Given the description of an element on the screen output the (x, y) to click on. 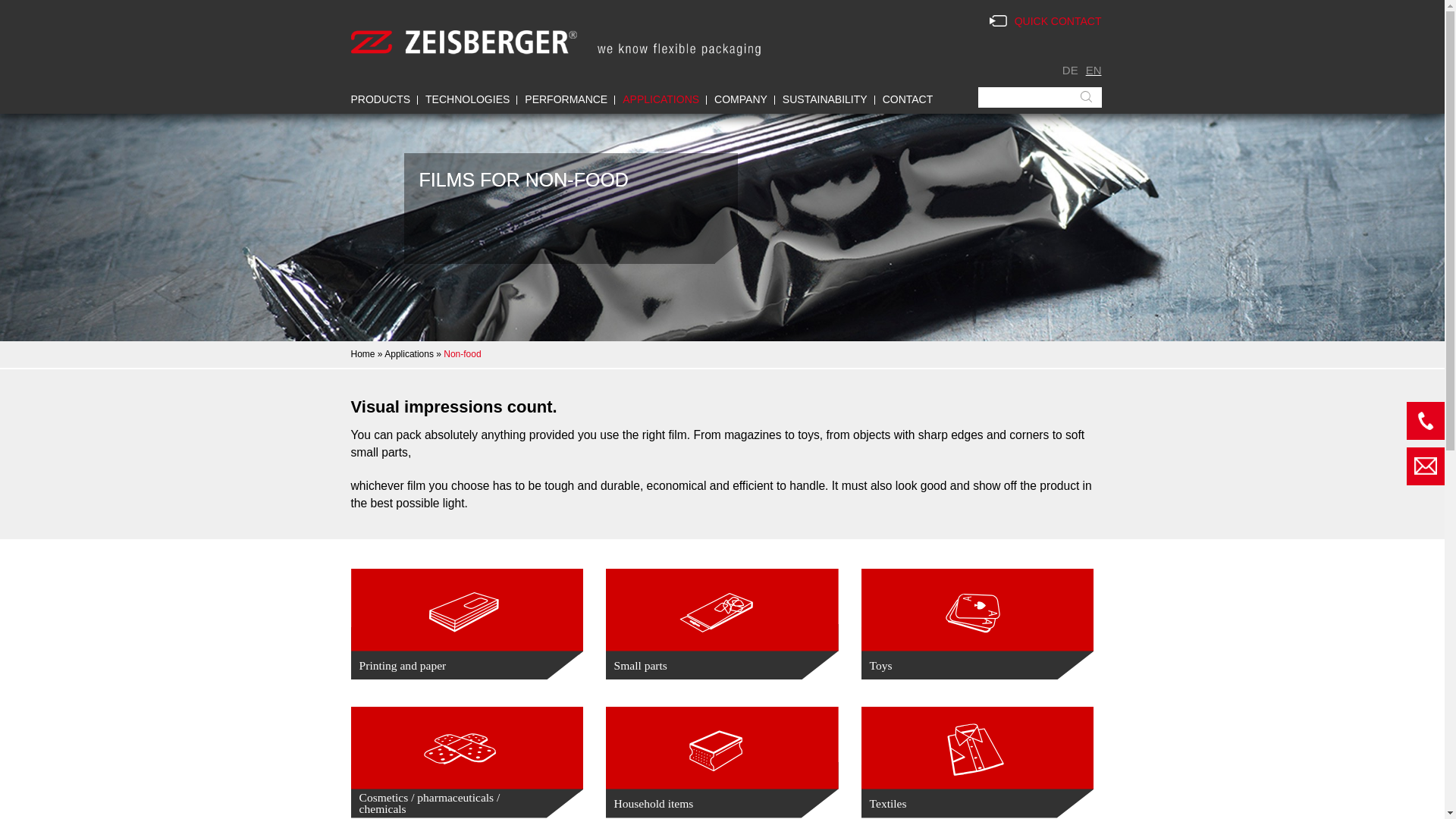
DE (1070, 69)
PERFORMANCE (565, 96)
Performance (565, 96)
Household items (721, 762)
Printing and paper (466, 623)
Textiles (977, 762)
TECHNOLOGIES (467, 96)
Small parts (721, 623)
PRODUCTS (380, 96)
APPLICATIONS (660, 109)
Technologies (467, 96)
EN (1094, 69)
Toys (977, 623)
Products (380, 96)
